Given the description of an element on the screen output the (x, y) to click on. 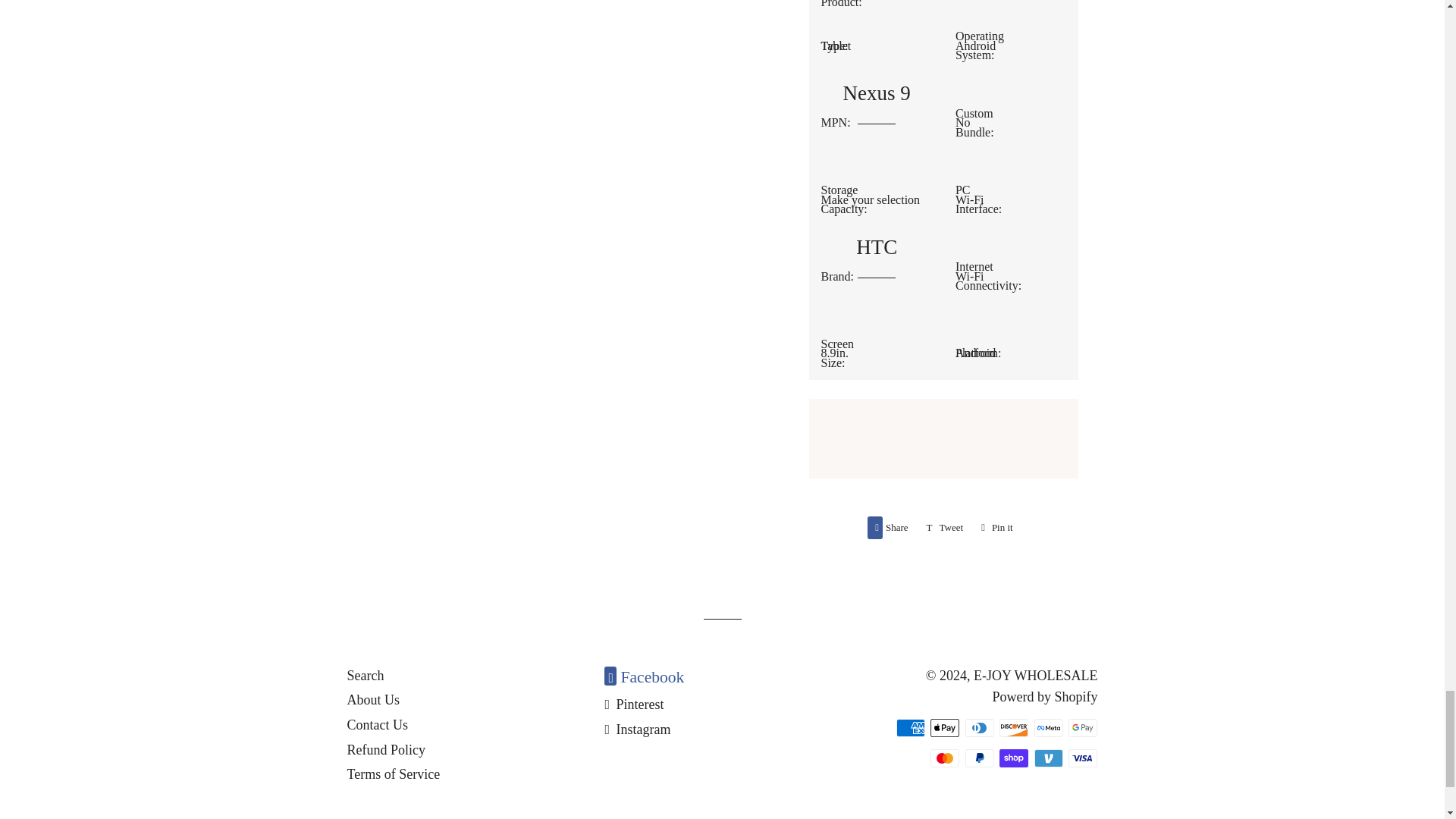
Pin on Pinterest (997, 527)
American Express (997, 527)
Share on Facebook (910, 728)
E-JOY WHOLESALE on Facebook (891, 527)
E-JOY WHOLESALE on Pinterest (644, 677)
E-JOY WHOLESALE on Instagram (633, 703)
Discover (636, 729)
Mastercard (1012, 728)
Visa (944, 758)
Tweet on Twitter (1082, 758)
Diners Club (944, 527)
Meta Pay (979, 728)
PayPal (1047, 728)
Apple Pay (979, 758)
